Given the description of an element on the screen output the (x, y) to click on. 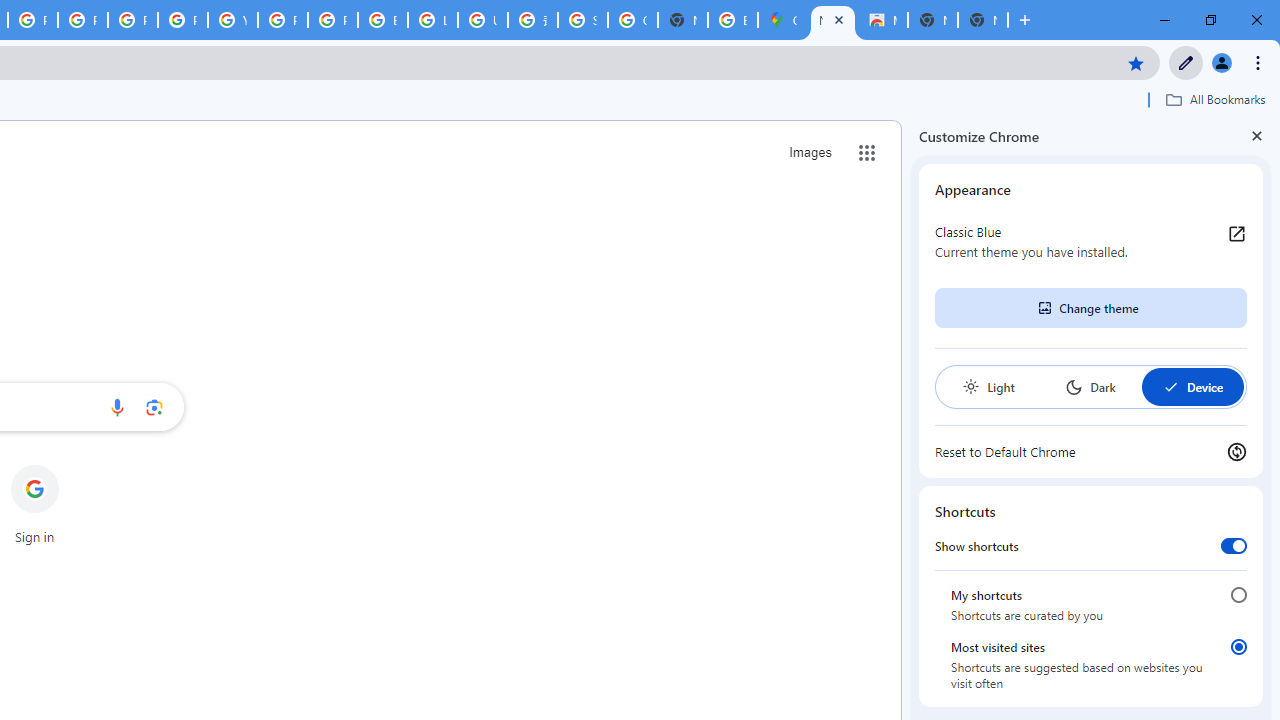
YouTube (232, 20)
Google Maps (782, 20)
Most visited sites (1238, 647)
Remove (74, 466)
Customize Chrome (1185, 62)
Change theme (1090, 308)
Search for Images  (810, 152)
Show shortcuts (1233, 545)
New Tab (832, 20)
Classic Blue Current theme you have installed. (1091, 241)
